Given the description of an element on the screen output the (x, y) to click on. 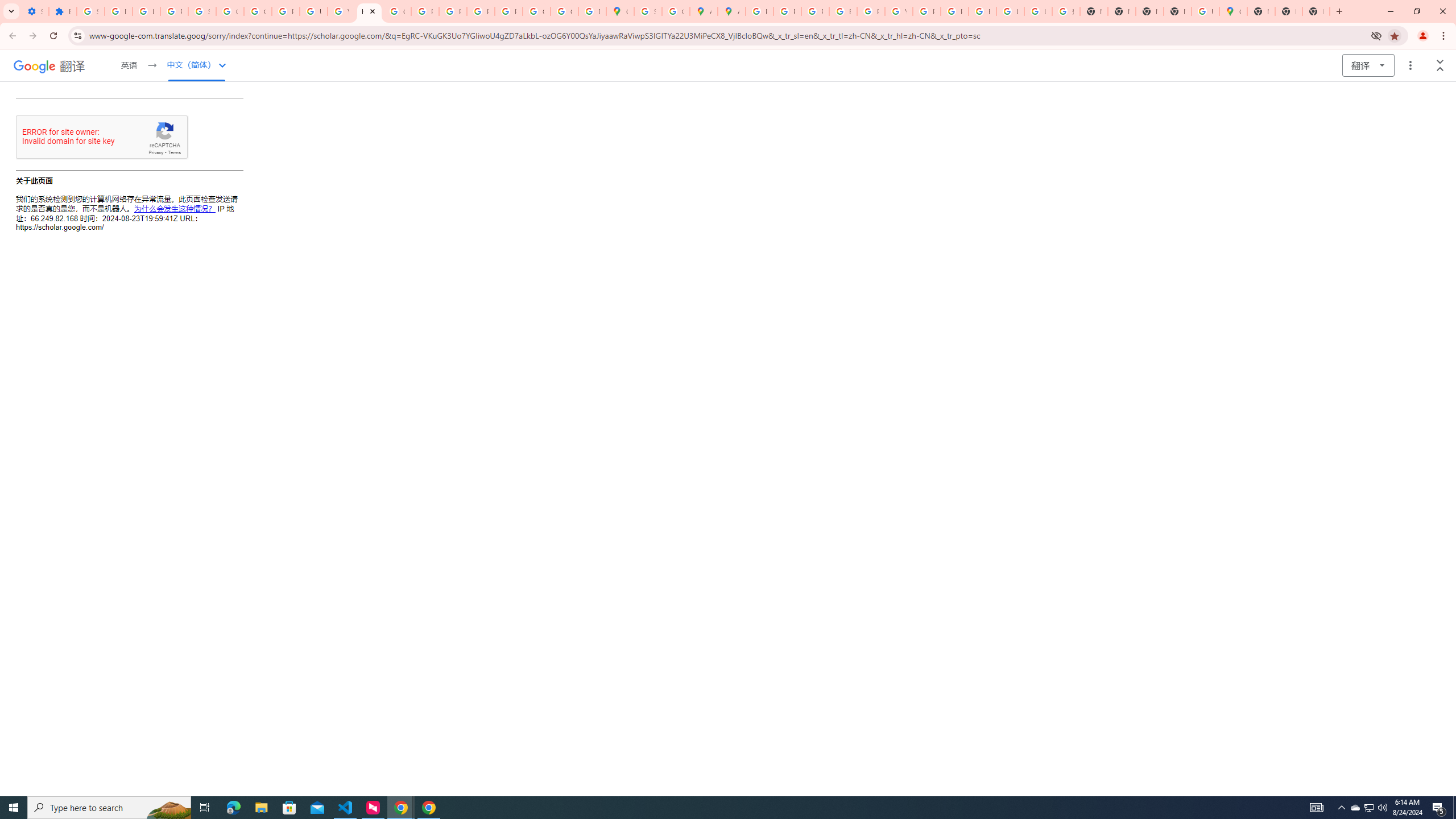
New Tab (1288, 11)
New Tab (1177, 11)
New Tab (1260, 11)
YouTube (898, 11)
Address and search bar (726, 35)
Privacy Help Center - Policies Help (787, 11)
Privacy (156, 152)
YouTube (341, 11)
Privacy Help Center - Policies Help (815, 11)
